Given the description of an element on the screen output the (x, y) to click on. 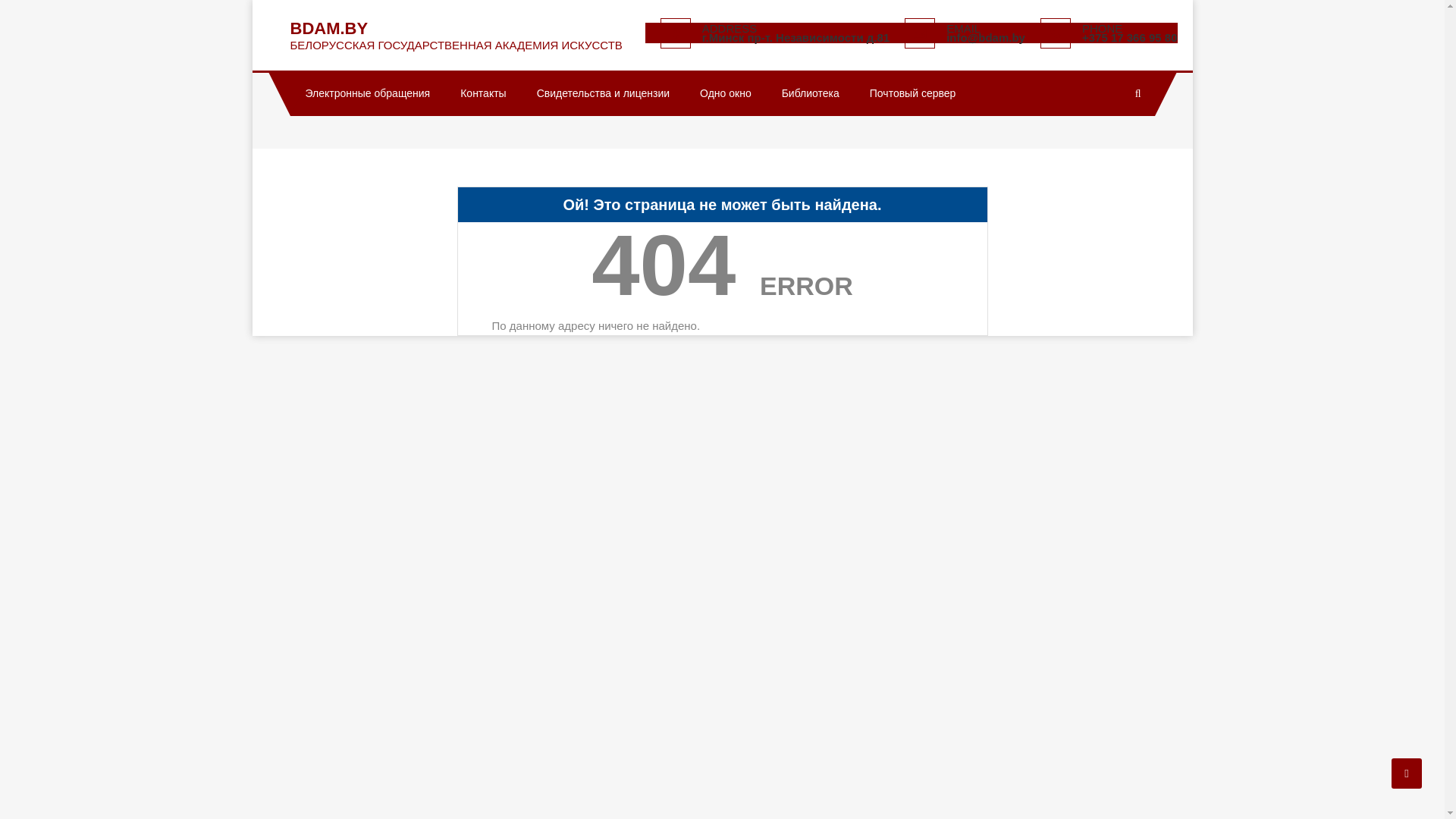
BDAM.BY Element type: text (328, 27)
